Given the description of an element on the screen output the (x, y) to click on. 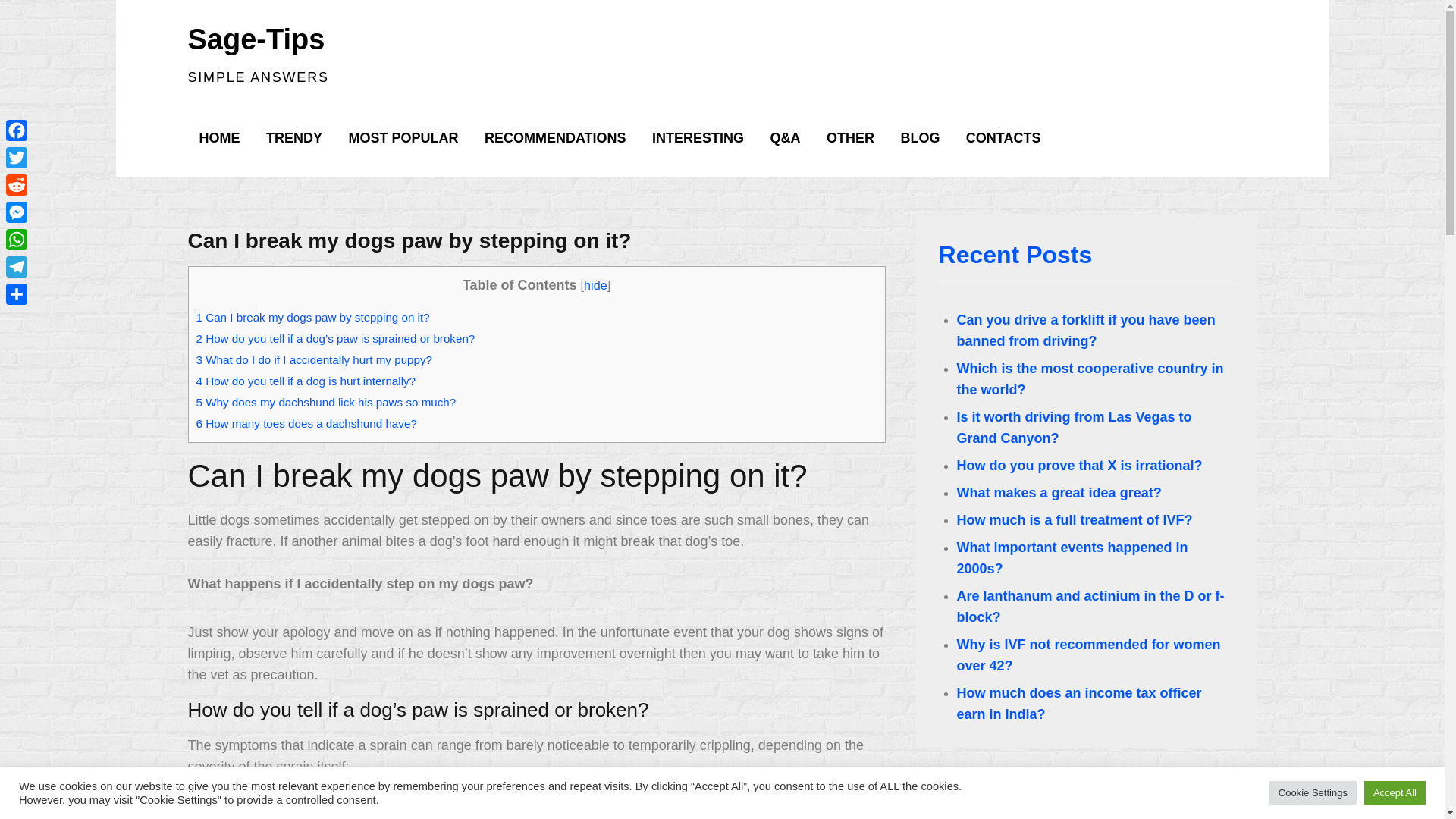
How do you prove that X is irrational? (1079, 465)
Reddit (16, 185)
Facebook (16, 130)
Twitter (16, 157)
3 What do I do if I accidentally hurt my puppy? (313, 359)
Sage-Tips (255, 39)
Messenger (16, 212)
Telegram (16, 266)
5 Why does my dachshund lick his paws so much? (325, 401)
4 How do you tell if a dog is hurt internally? (304, 380)
Which is the most cooperative country in the world? (1090, 379)
BLOG (919, 137)
INTERESTING (697, 137)
CONTACTS (1003, 137)
How much is a full treatment of IVF? (1074, 519)
